Given the description of an element on the screen output the (x, y) to click on. 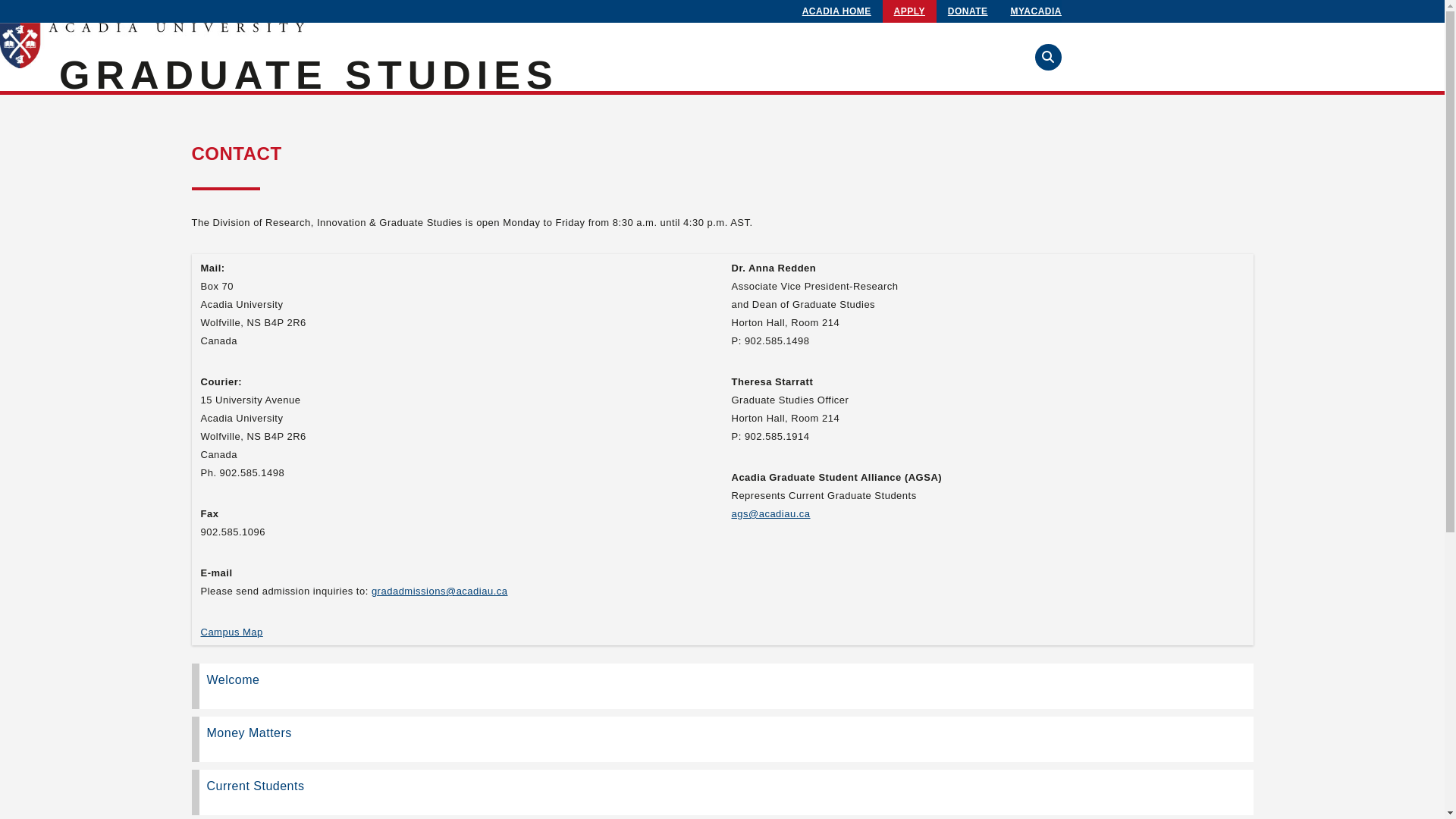
gradadmissions@acadiau.ca Element type: text (439, 590)
Money Matters Element type: text (721, 739)
ACADIA HOME Element type: text (836, 11)
MYACADIA Element type: text (1035, 11)
DONATE Element type: text (967, 11)
Current Students Element type: text (721, 792)
APPLY Element type: text (909, 11)
GRADUATE STUDIES Element type: text (308, 75)
ags@acadiau.ca Element type: text (770, 513)
Campus Map Element type: text (231, 631)
Welcome Element type: text (721, 686)
